Given the description of an element on the screen output the (x, y) to click on. 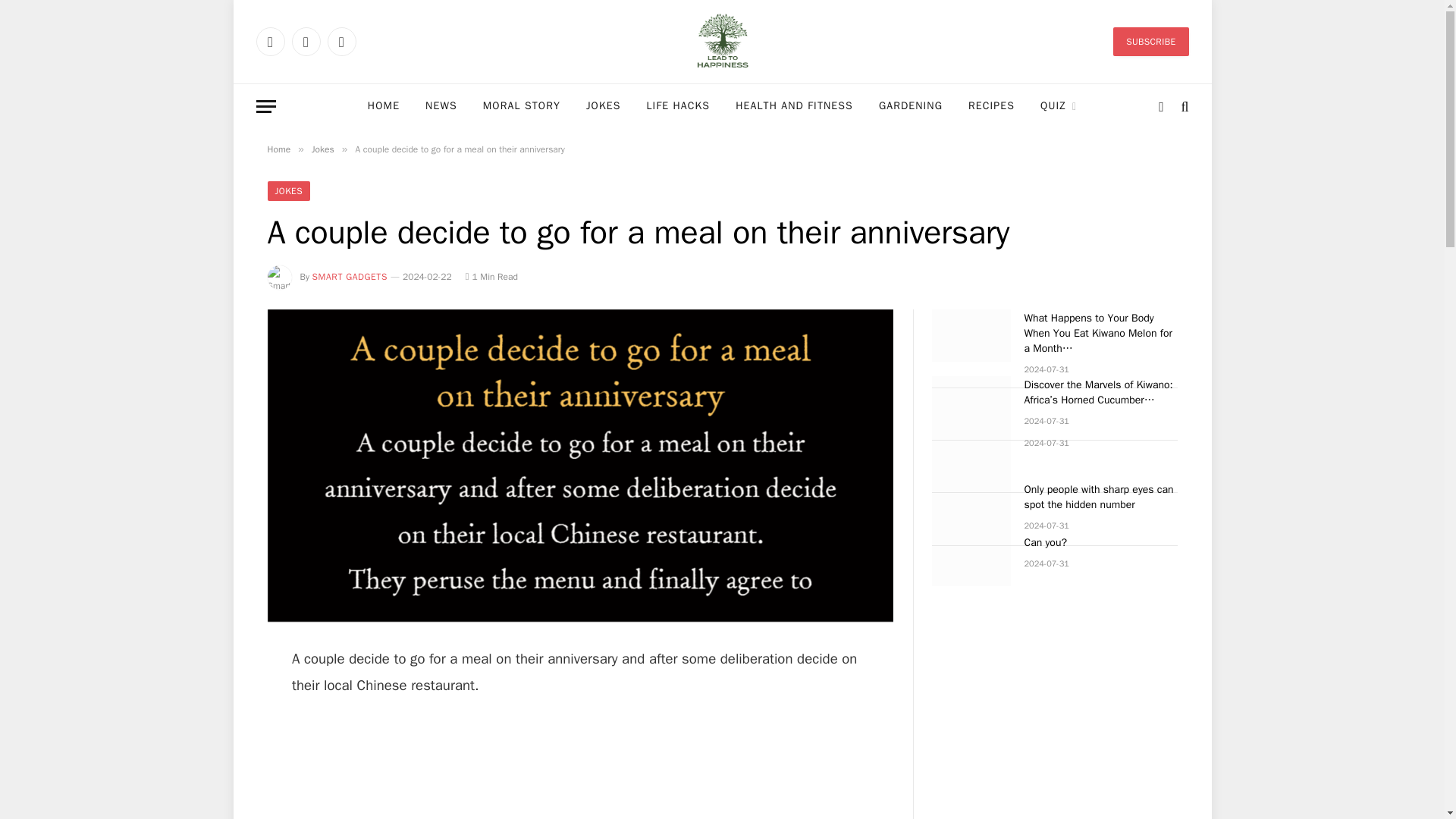
SUBSCRIBE (1150, 41)
Switch to Dark Design - easier on eyes. (1160, 106)
Posts by Smart Gadgets (350, 276)
JOKES (603, 106)
GARDENING (910, 106)
HEALTH AND FITNESS (794, 106)
NEWS (441, 106)
QUIZ (1058, 106)
MORAL STORY (521, 106)
HOME (383, 106)
RECIPES (991, 106)
LIFE HACKS (678, 106)
Facebook (270, 41)
Instagram (341, 41)
